Given the description of an element on the screen output the (x, y) to click on. 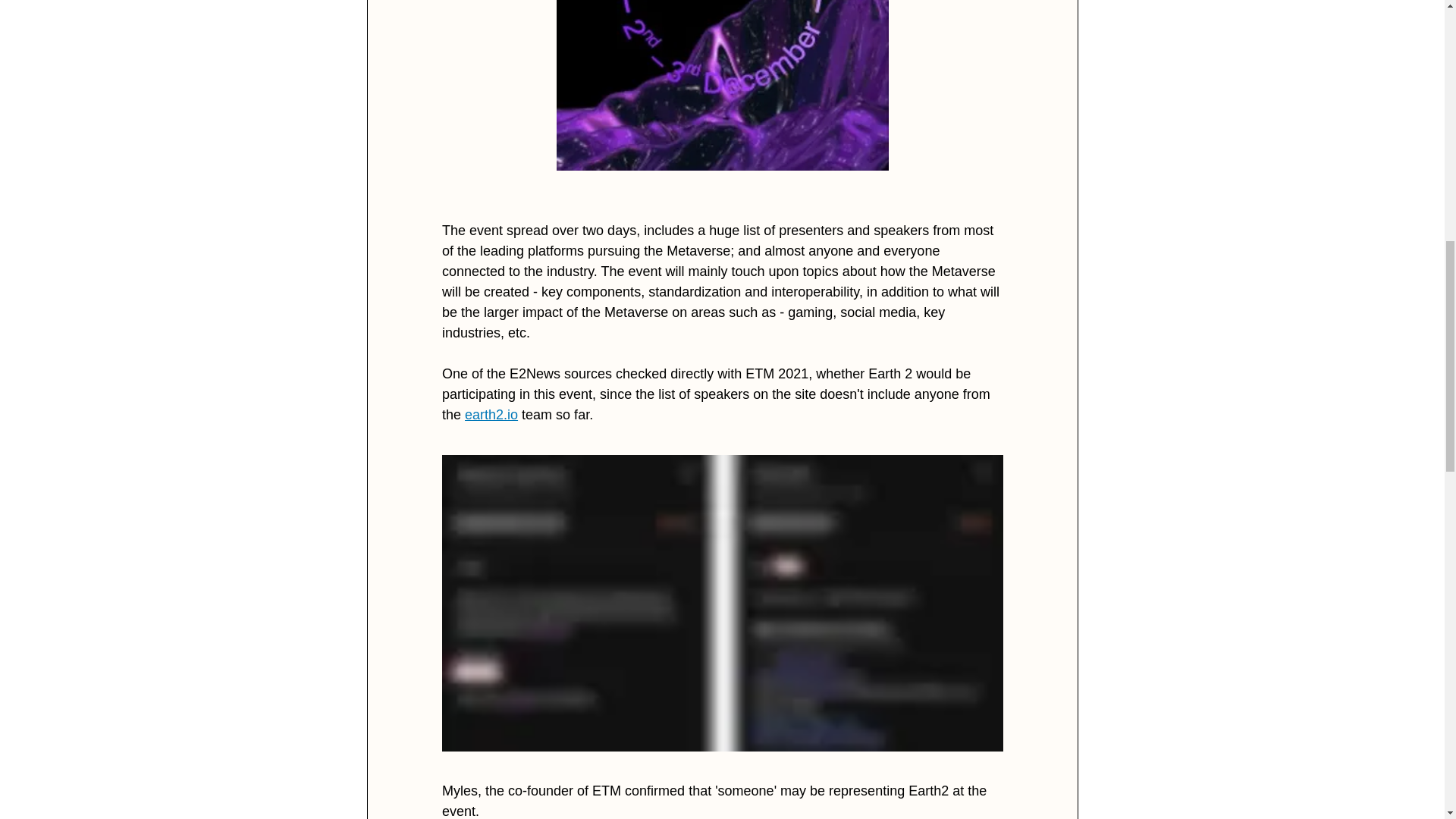
earth2.io (491, 414)
